Given the description of an element on the screen output the (x, y) to click on. 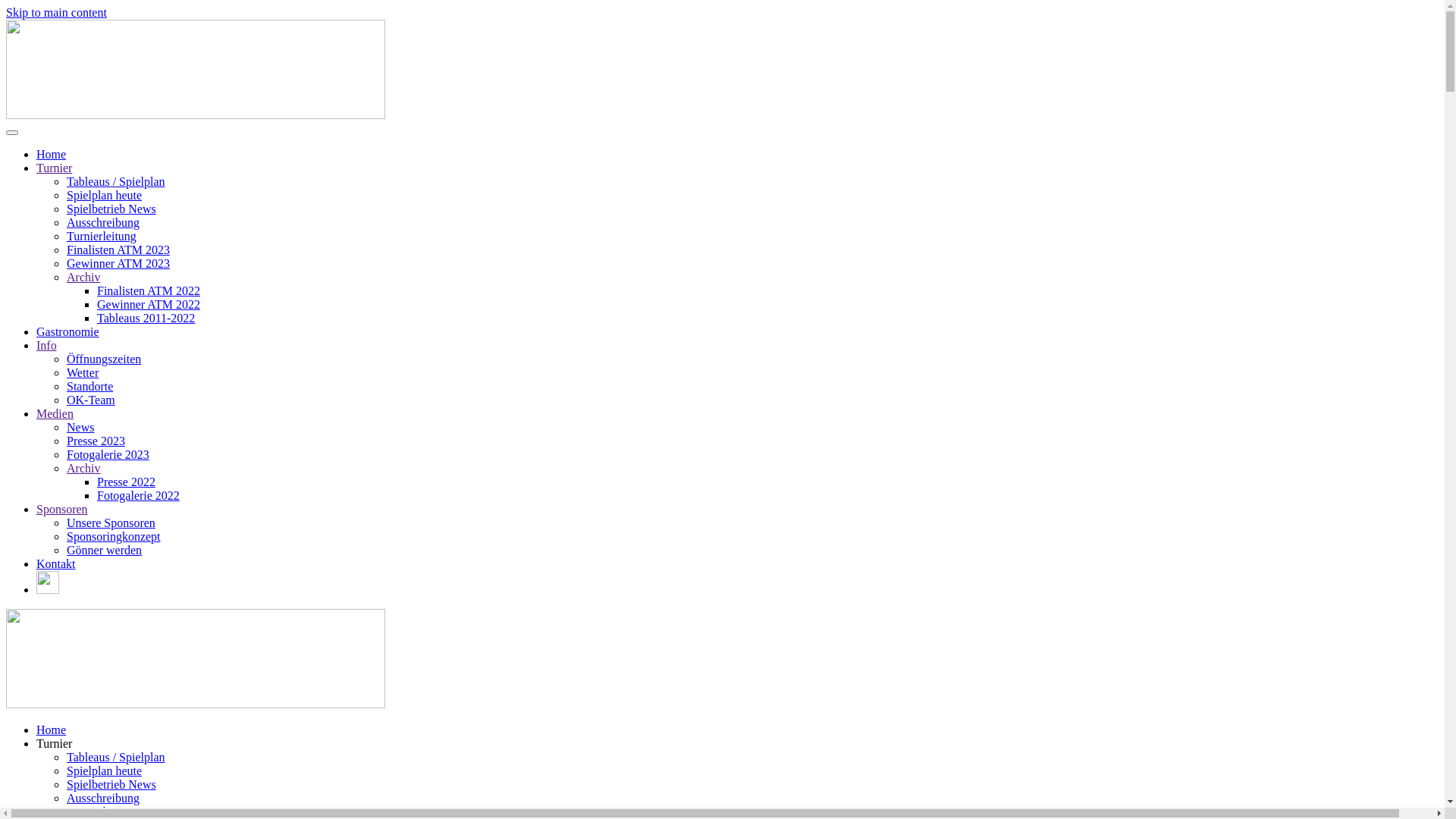
Unsere Sponsoren Element type: text (110, 522)
Fotogalerie 2023 Element type: text (107, 454)
Spielplan heute Element type: text (103, 194)
Gewinner ATM 2022 Element type: text (148, 304)
Archiv Element type: text (83, 276)
Ausschreibung Element type: text (102, 222)
Skip to main content Element type: text (56, 12)
Tableaus / Spielplan Element type: text (115, 756)
Tableaus 2011-2022 Element type: text (145, 317)
Turnier Element type: text (54, 167)
Sponsoringkonzept Element type: text (113, 536)
Gastronomie Element type: text (67, 331)
Spielbetrieb News Element type: text (111, 784)
Info Element type: text (46, 344)
Sponsoren Element type: text (61, 508)
Archiv Element type: text (83, 467)
Home Element type: text (50, 729)
Spielplan heute Element type: text (103, 770)
Home Element type: text (50, 153)
Turnierleitung Element type: text (101, 811)
Presse 2022 Element type: text (126, 481)
Tableaus / Spielplan Element type: text (115, 181)
Medien Element type: text (54, 413)
Presse 2023 Element type: text (95, 440)
Standorte Element type: text (89, 385)
Finalisten ATM 2022 Element type: text (148, 290)
Fotogalerie 2022 Element type: text (138, 495)
Turnier Element type: text (54, 743)
Finalisten ATM 2023 Element type: text (117, 249)
Ausschreibung Element type: text (102, 797)
OK-Team Element type: text (90, 399)
News Element type: text (80, 426)
Gewinner ATM 2023 Element type: text (117, 263)
Spielbetrieb News Element type: text (111, 208)
Kontakt Element type: text (55, 563)
Turnierleitung Element type: text (101, 235)
Wetter Element type: text (82, 372)
